Given the description of an element on the screen output the (x, y) to click on. 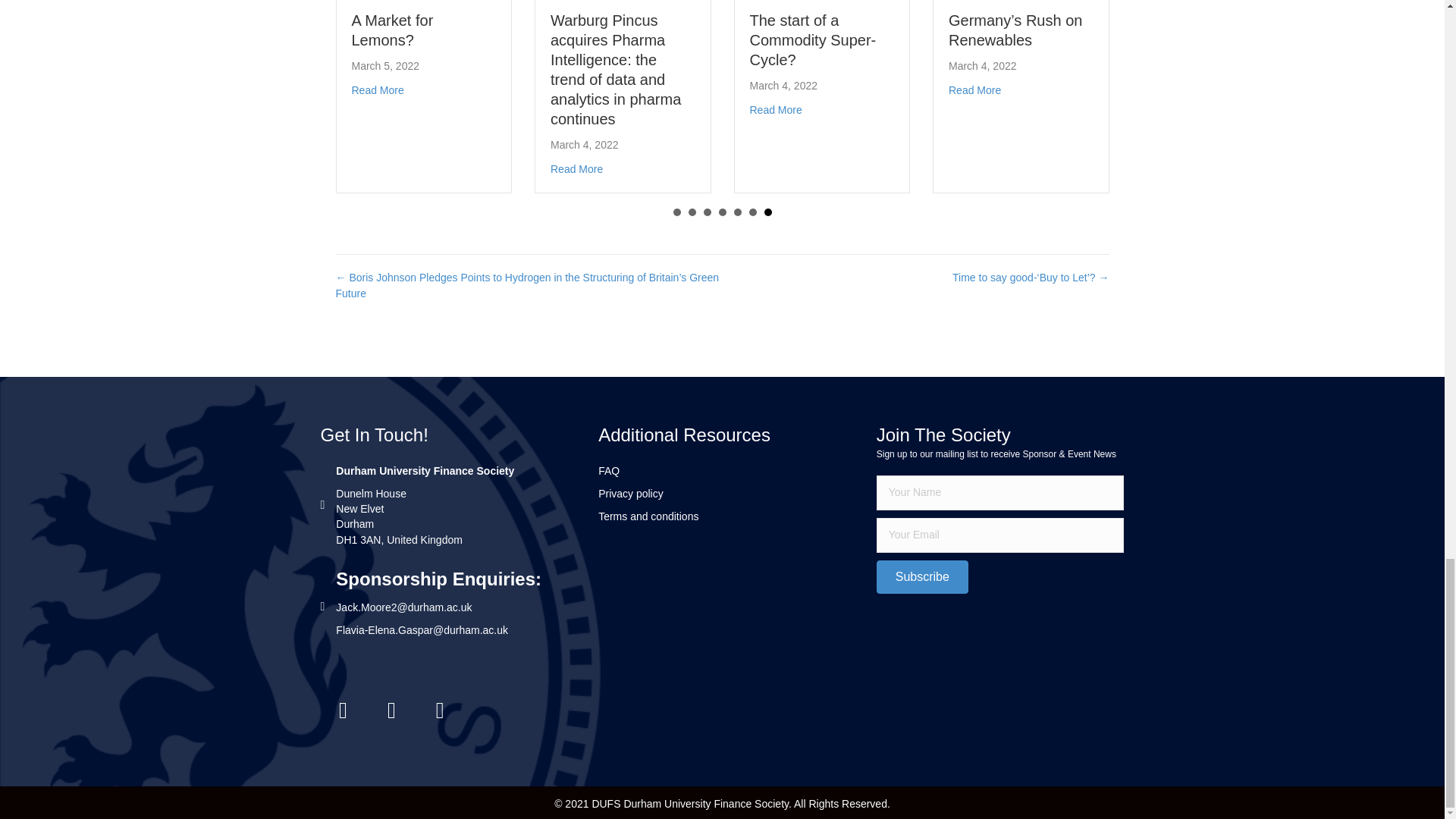
A Market for Lemons? (392, 30)
Read More (378, 90)
A Market for Lemons? (378, 90)
A Market for Lemons? (392, 30)
